Given the description of an element on the screen output the (x, y) to click on. 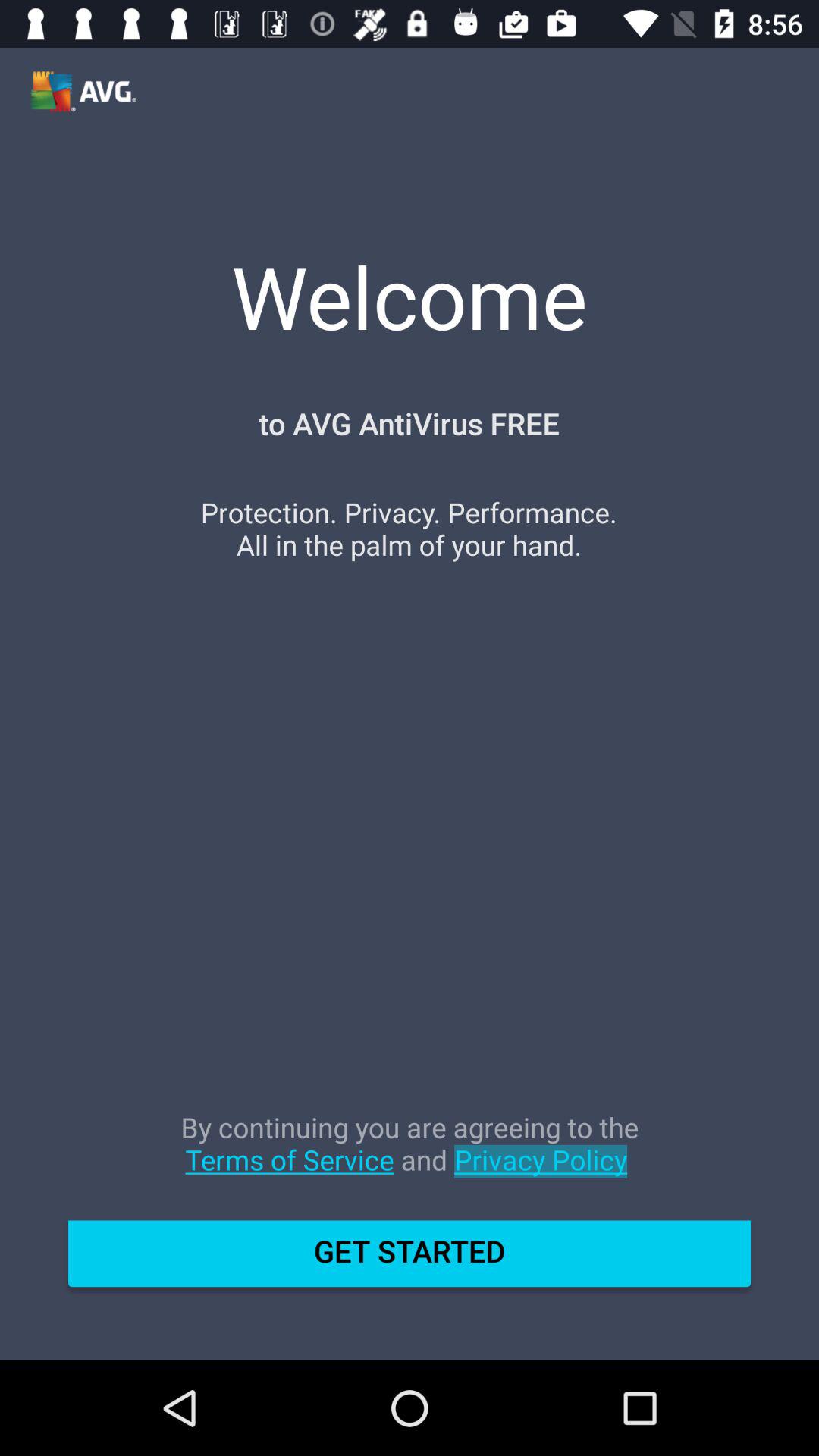
launch the item below the by continuing you icon (409, 1259)
